Given the description of an element on the screen output the (x, y) to click on. 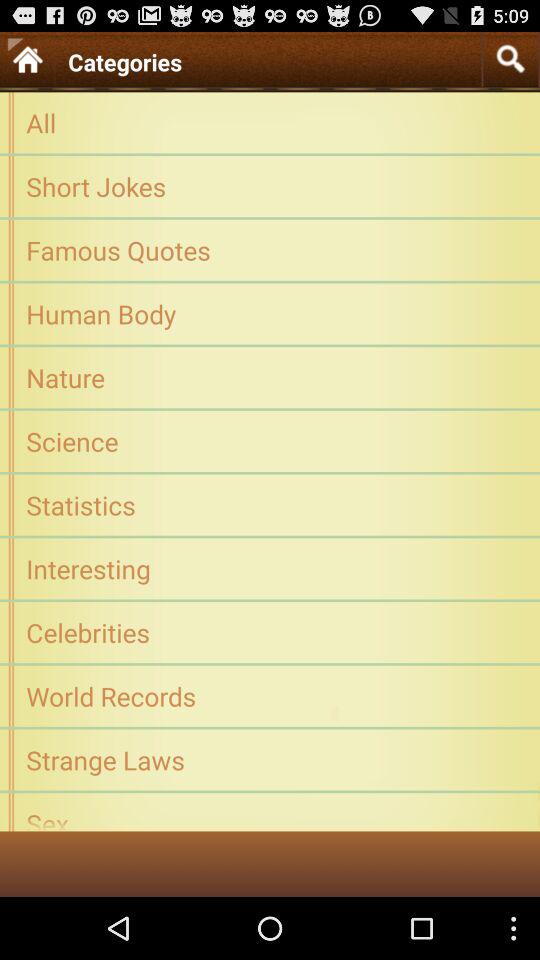
jump until the world records app (270, 695)
